Given the description of an element on the screen output the (x, y) to click on. 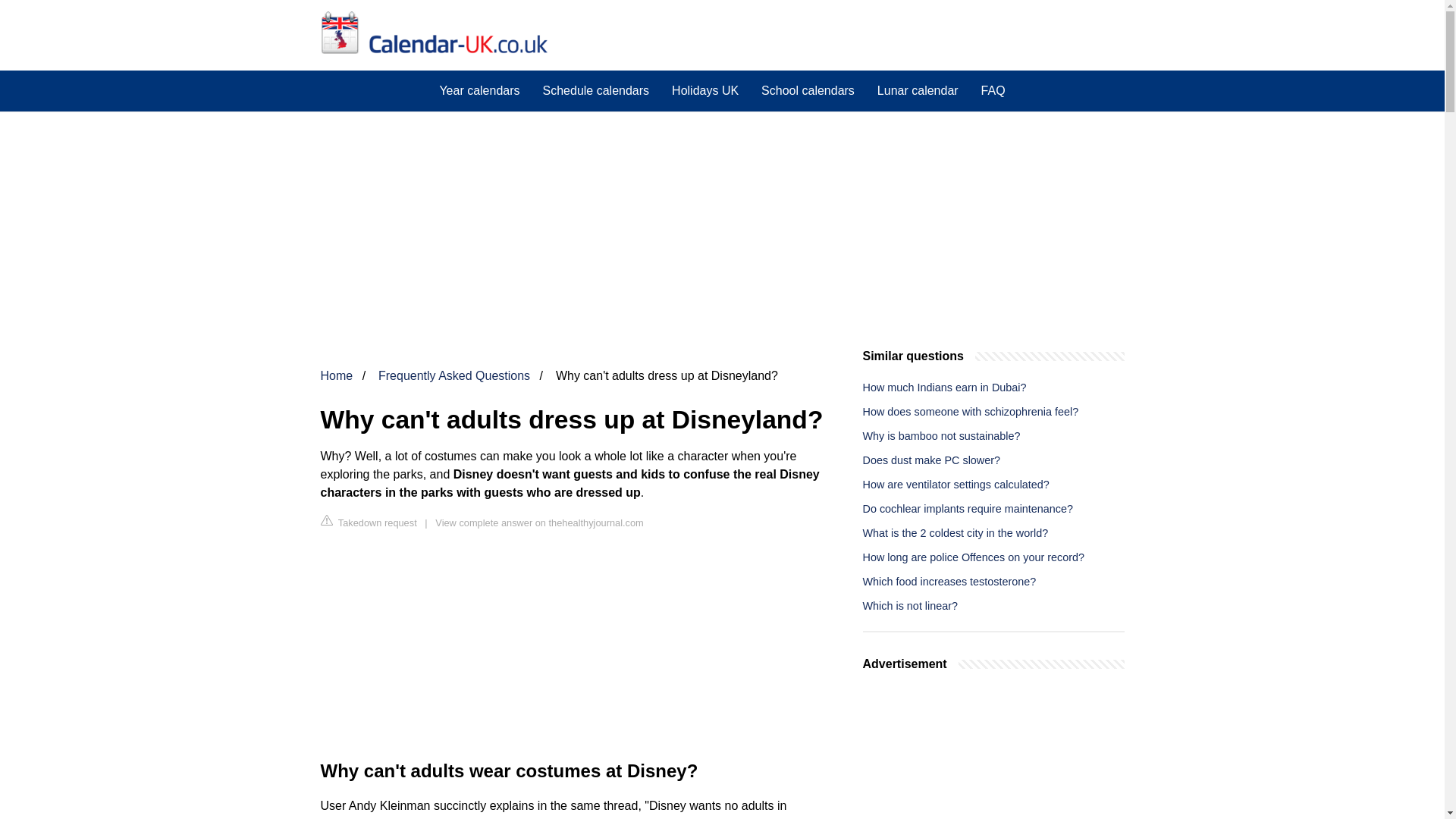
School calendars (807, 90)
Takedown request (368, 521)
Home (336, 375)
Lunar calendar (917, 90)
Holidays UK (705, 90)
Year calendars (479, 90)
Schedule calendars (596, 90)
FAQ (992, 90)
View complete answer on thehealthyjournal.com (539, 522)
Frequently Asked Questions (453, 375)
